Given the description of an element on the screen output the (x, y) to click on. 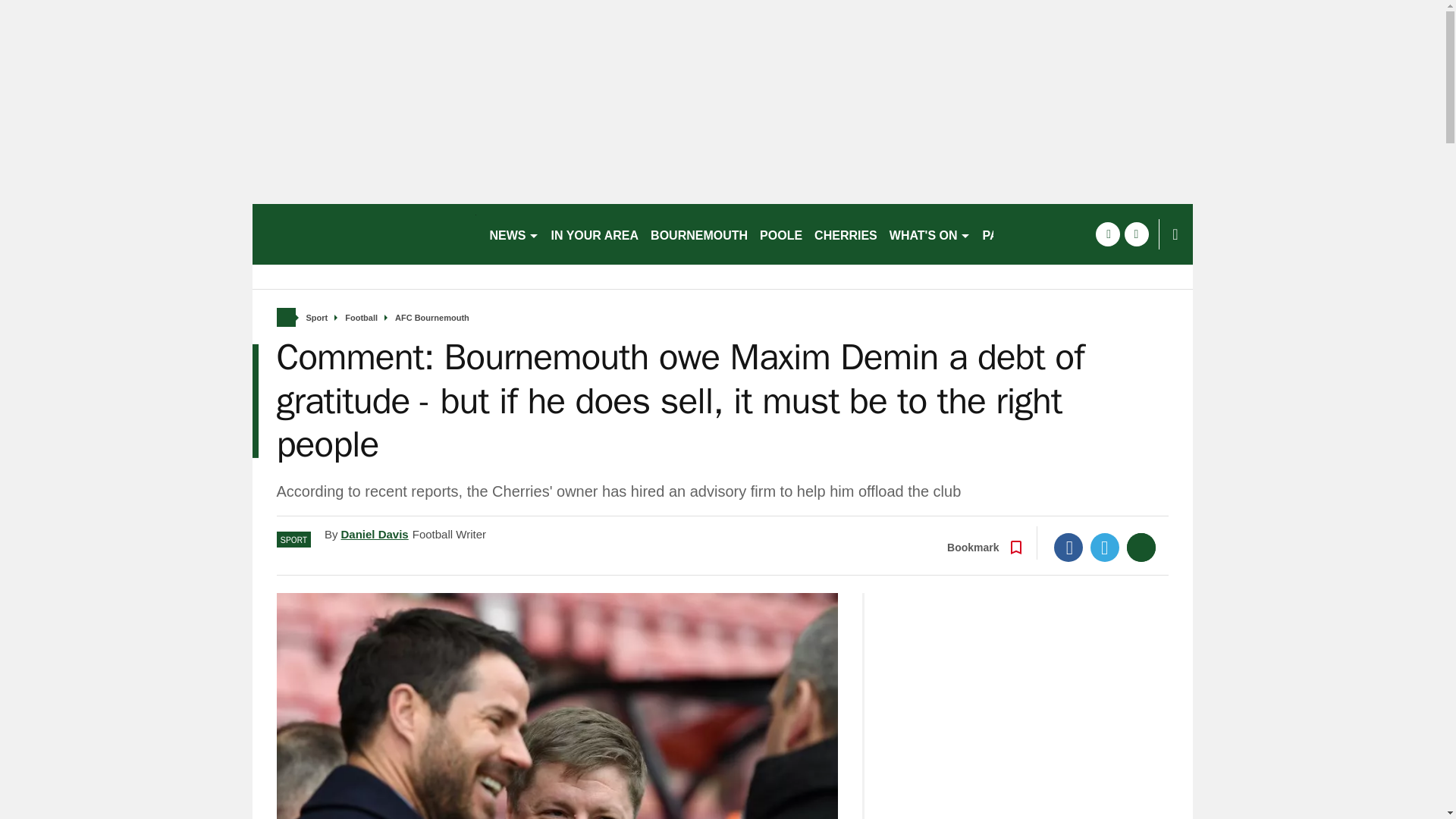
twitter (1136, 233)
WHAT'S ON (929, 233)
Facebook (1068, 547)
IN YOUR AREA (594, 233)
Twitter (1104, 547)
CHERRIES (845, 233)
POOLE (781, 233)
PARTNER STORIES (1039, 233)
NEWS (513, 233)
BOURNEMOUTH (699, 233)
